Given the description of an element on the screen output the (x, y) to click on. 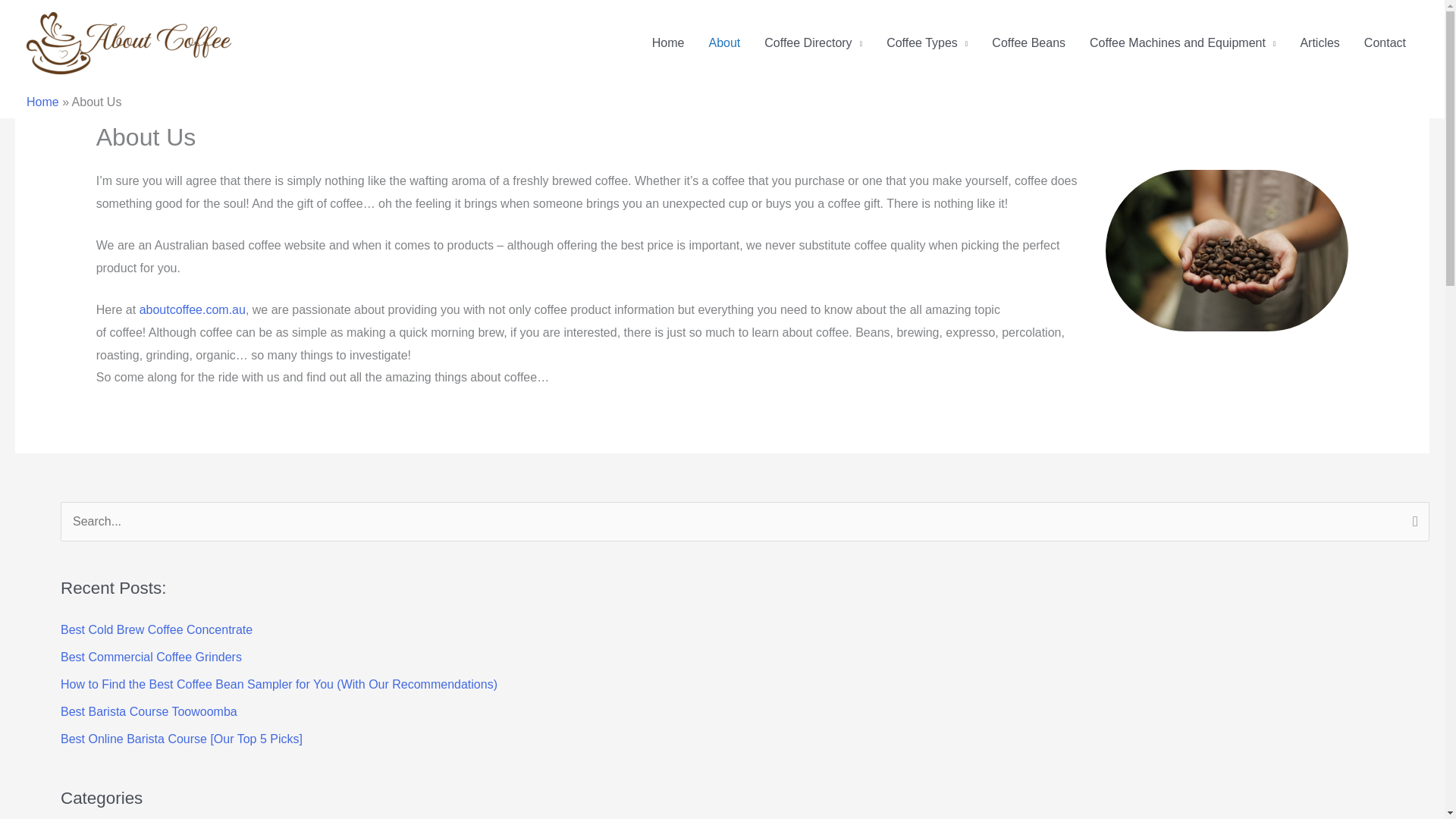
Best Commercial Coffee Grinders (151, 656)
Coffee Directory (813, 43)
Coffee Machines and Equipment (1182, 43)
Best Barista Course Toowoomba (149, 711)
aboutcoffee.com.au (192, 309)
beans for coffee (1226, 250)
Coffee Beans (1028, 43)
Best Cold Brew Coffee Concentrate (156, 629)
Home (42, 101)
Coffee Types (927, 43)
